Given the description of an element on the screen output the (x, y) to click on. 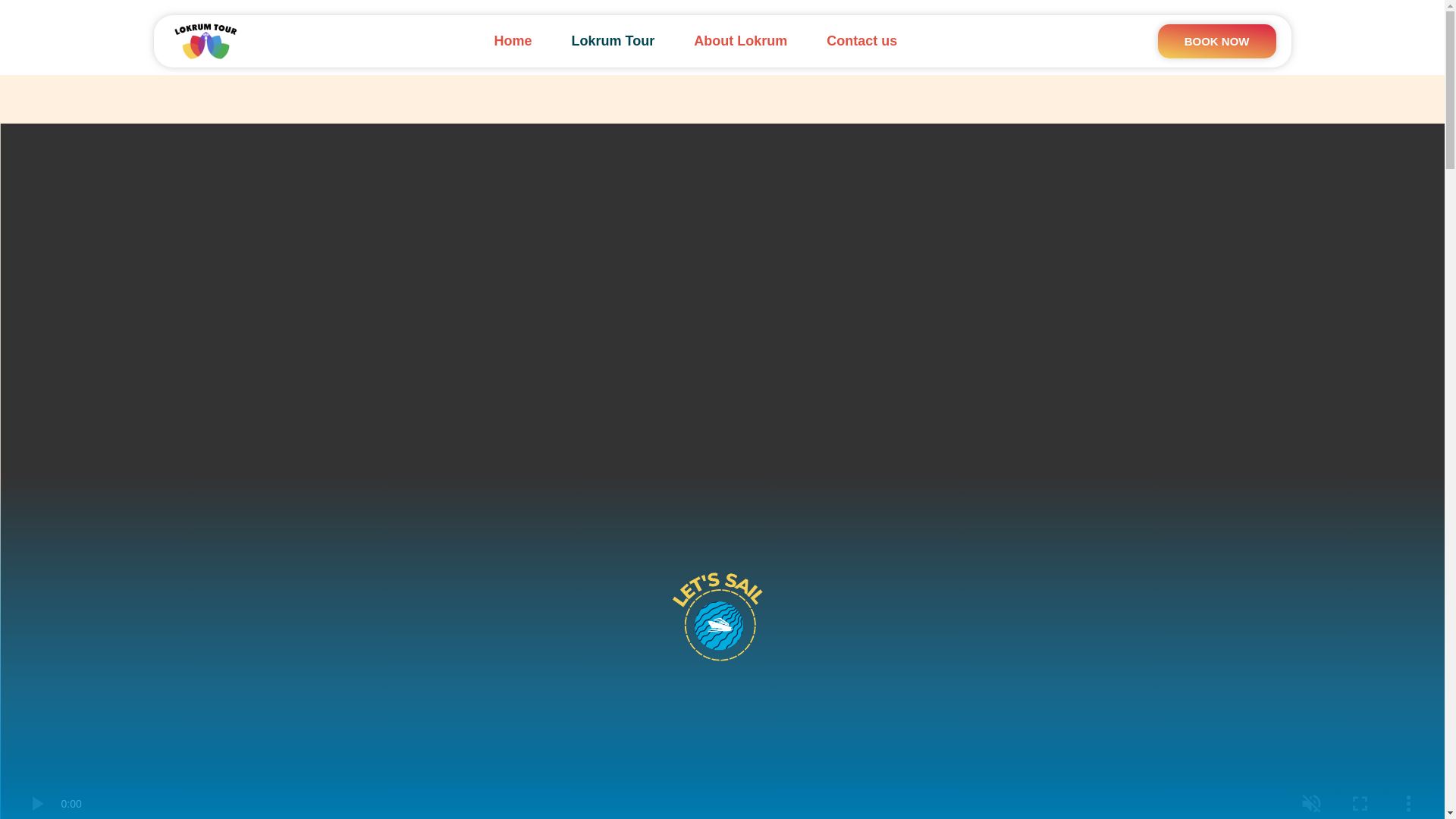
Contact us (861, 40)
Home (512, 40)
BOOK NOW (1216, 41)
Lokrum Tour (613, 40)
About Lokrum (740, 40)
